Given the description of an element on the screen output the (x, y) to click on. 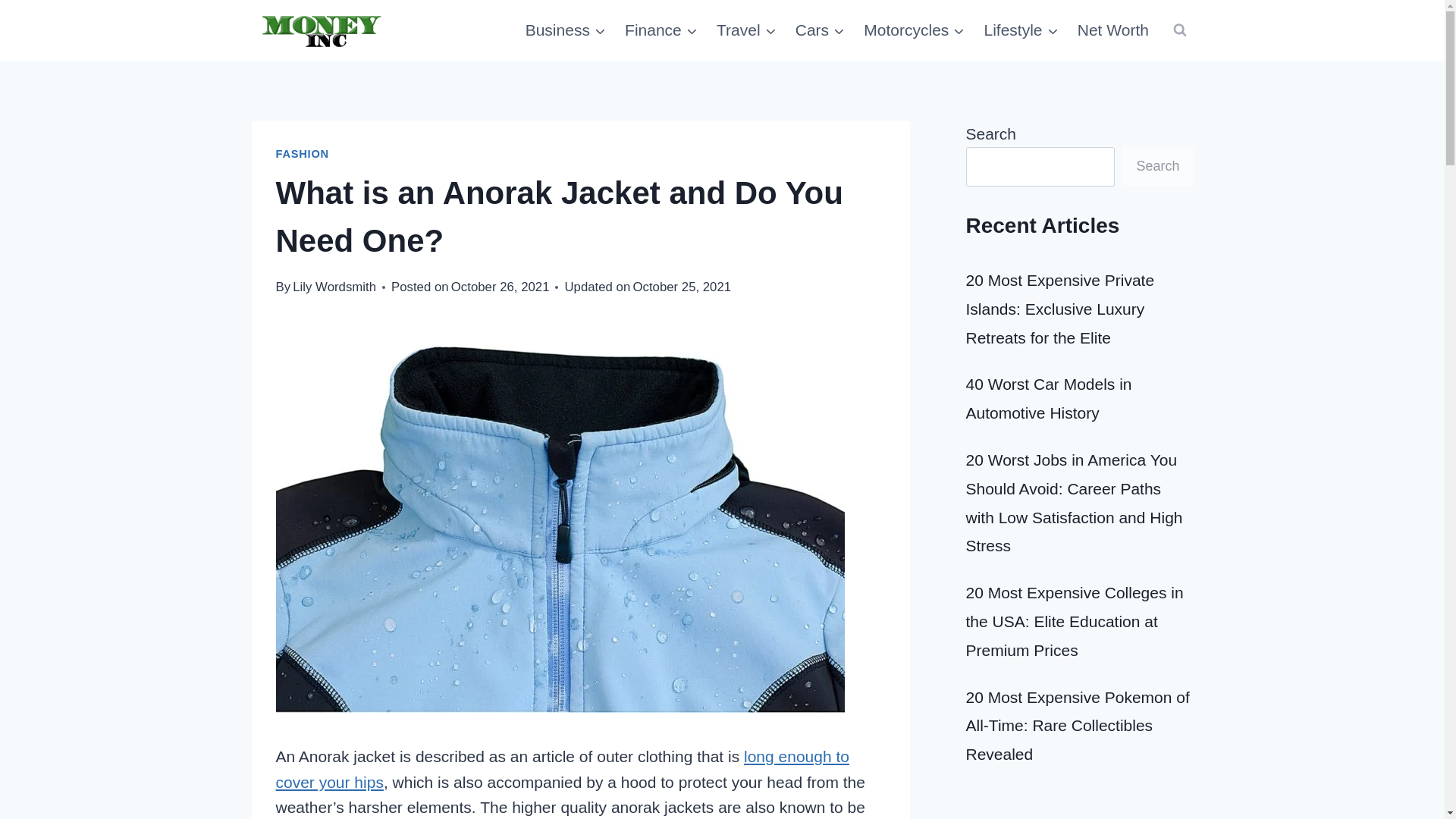
Business (564, 30)
Travel (746, 30)
Finance (661, 30)
Cars (820, 30)
